Given the description of an element on the screen output the (x, y) to click on. 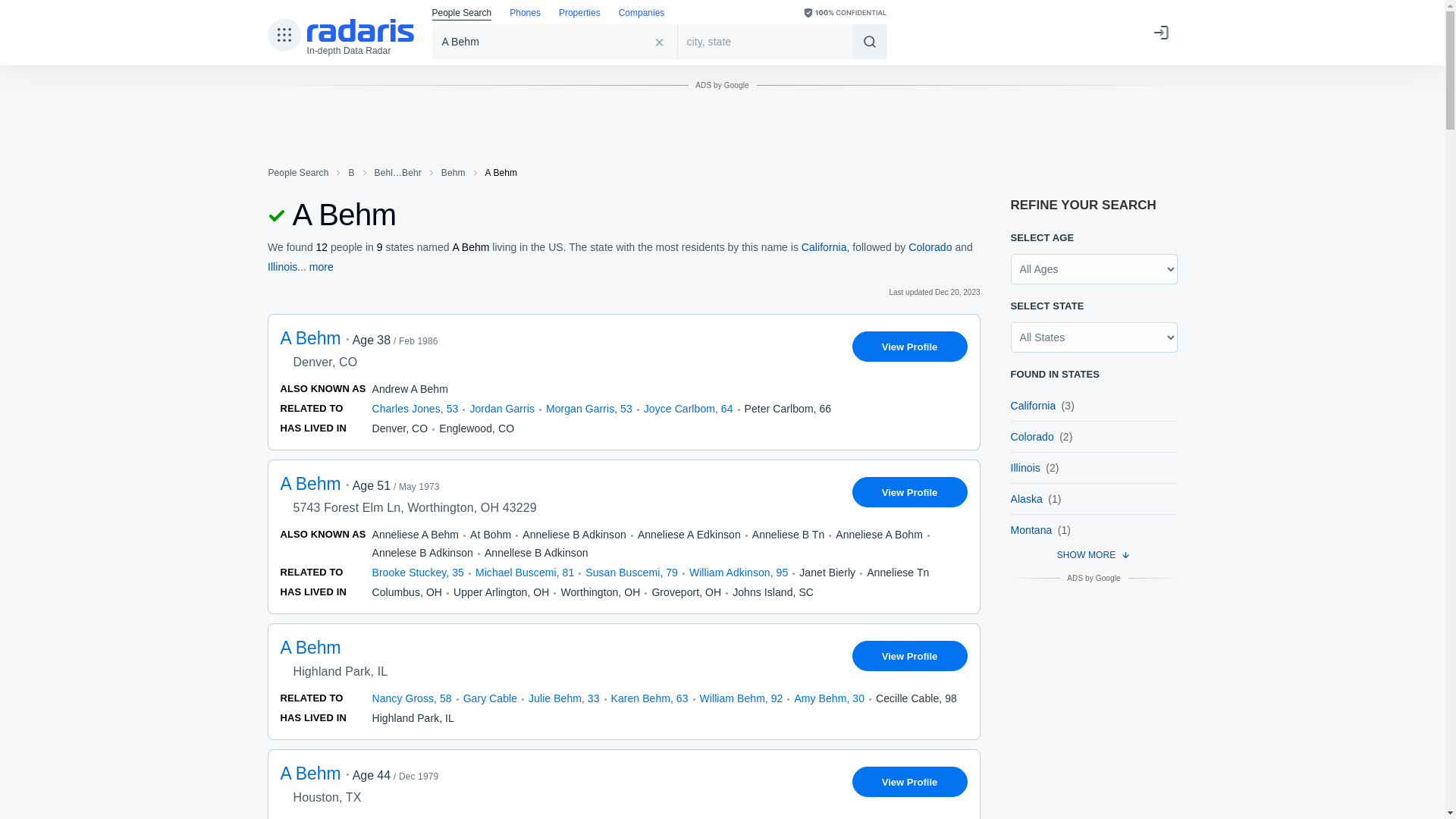
Julie Behm, 33 (563, 698)
People Search (297, 172)
B (350, 172)
Karen Behm, 63 (649, 698)
A Behm (555, 41)
William Behm, 92 (741, 698)
William Adkinson, 95 (737, 572)
Susan Buscemi, 79 (631, 572)
Nancy Gross, 58 (411, 698)
Behm (453, 172)
Advertisement (721, 133)
Gary Cable (489, 698)
Jordan Garris (501, 408)
Phones (524, 13)
Properties (579, 13)
